Given the description of an element on the screen output the (x, y) to click on. 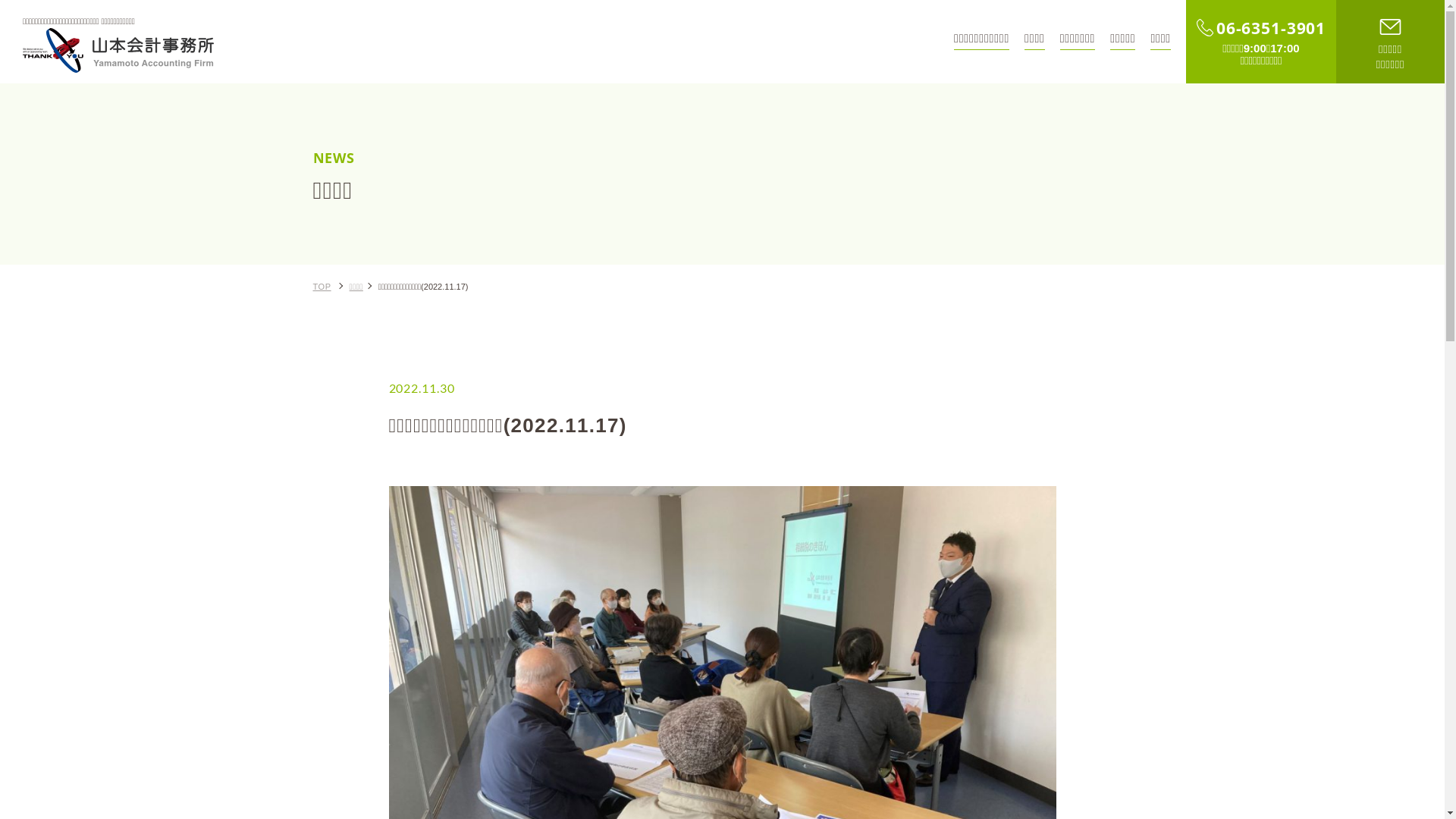
TOP Element type: text (321, 286)
